Given the description of an element on the screen output the (x, y) to click on. 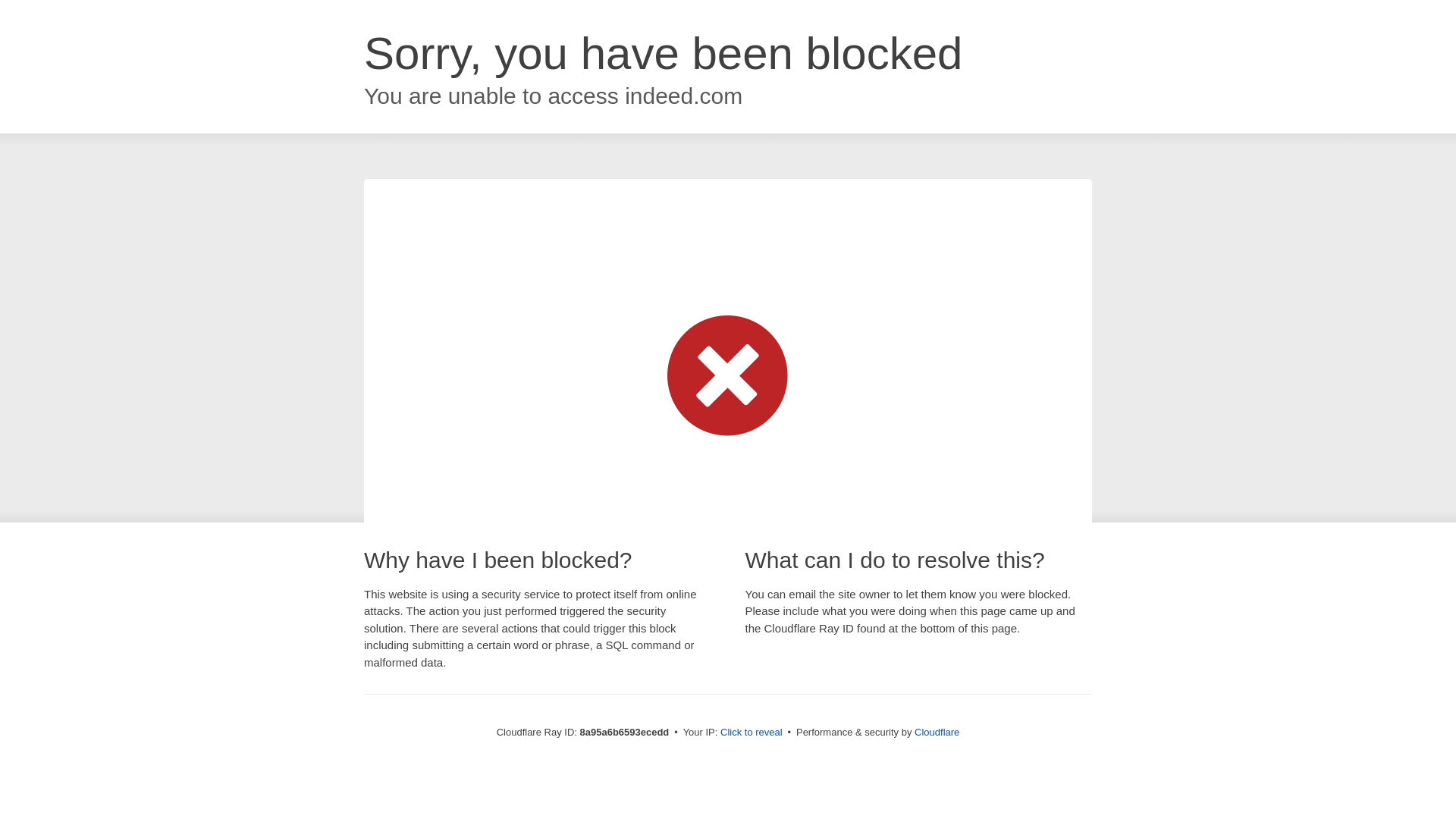
Cloudflare (936, 731)
Click to reveal (751, 732)
